Given the description of an element on the screen output the (x, y) to click on. 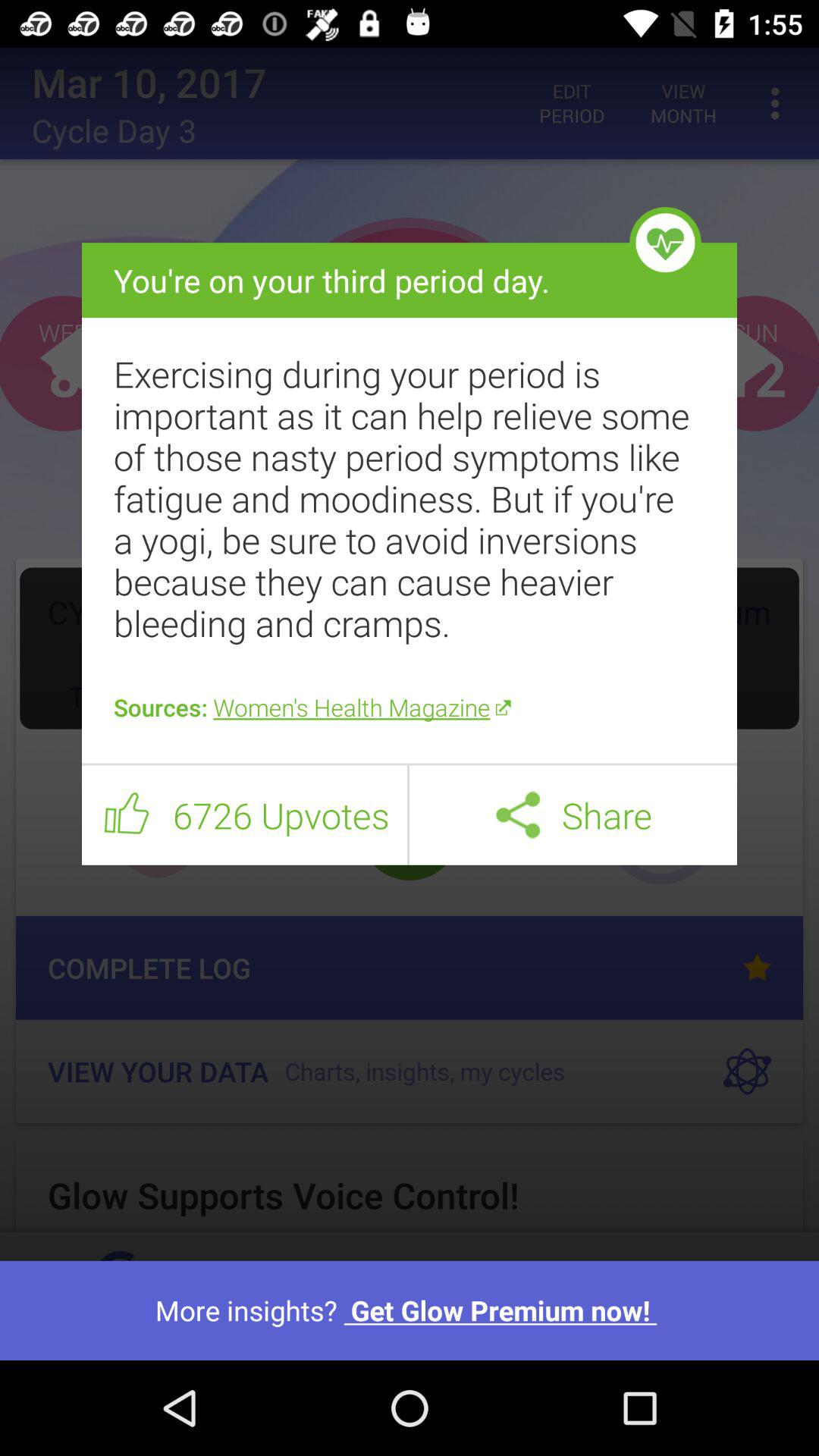
turn on item below the sources women s item (409, 764)
